Given the description of an element on the screen output the (x, y) to click on. 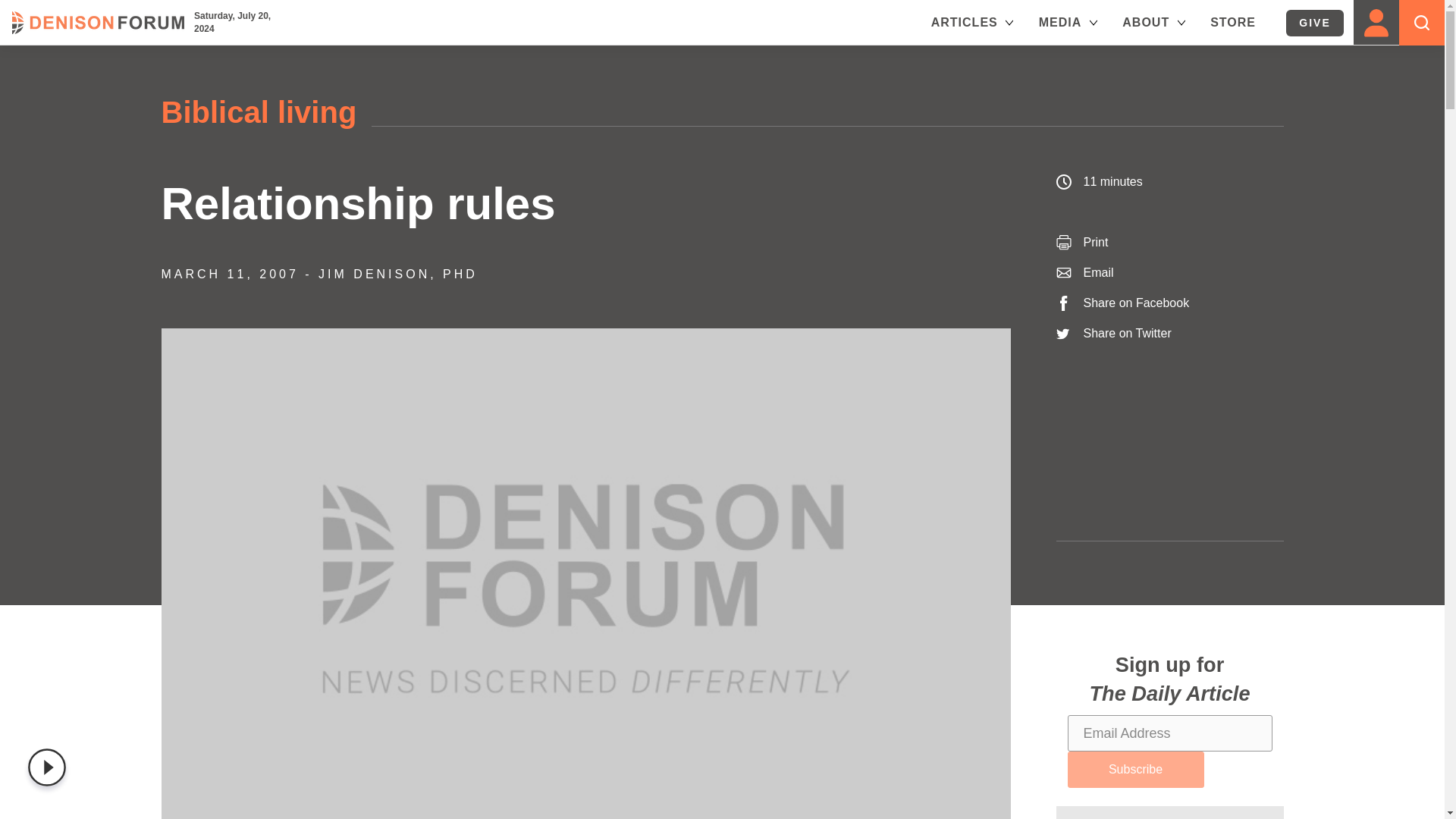
Posts by Jim Denison, PhD (397, 273)
ARTICLES (973, 22)
MEDIA (1069, 22)
Trinity Audio Player (50, 768)
Email (1098, 272)
Subscribe (1135, 769)
Saturday, July 20, 2024 (233, 22)
JIM DENISON, PHD (397, 273)
Print this Page (1095, 241)
Share on Twitter (1126, 332)
Share via Email (1098, 272)
STORE (1232, 21)
Email (1098, 272)
Share on Facebook (1136, 302)
GIVE (1314, 22)
